Given the description of an element on the screen output the (x, y) to click on. 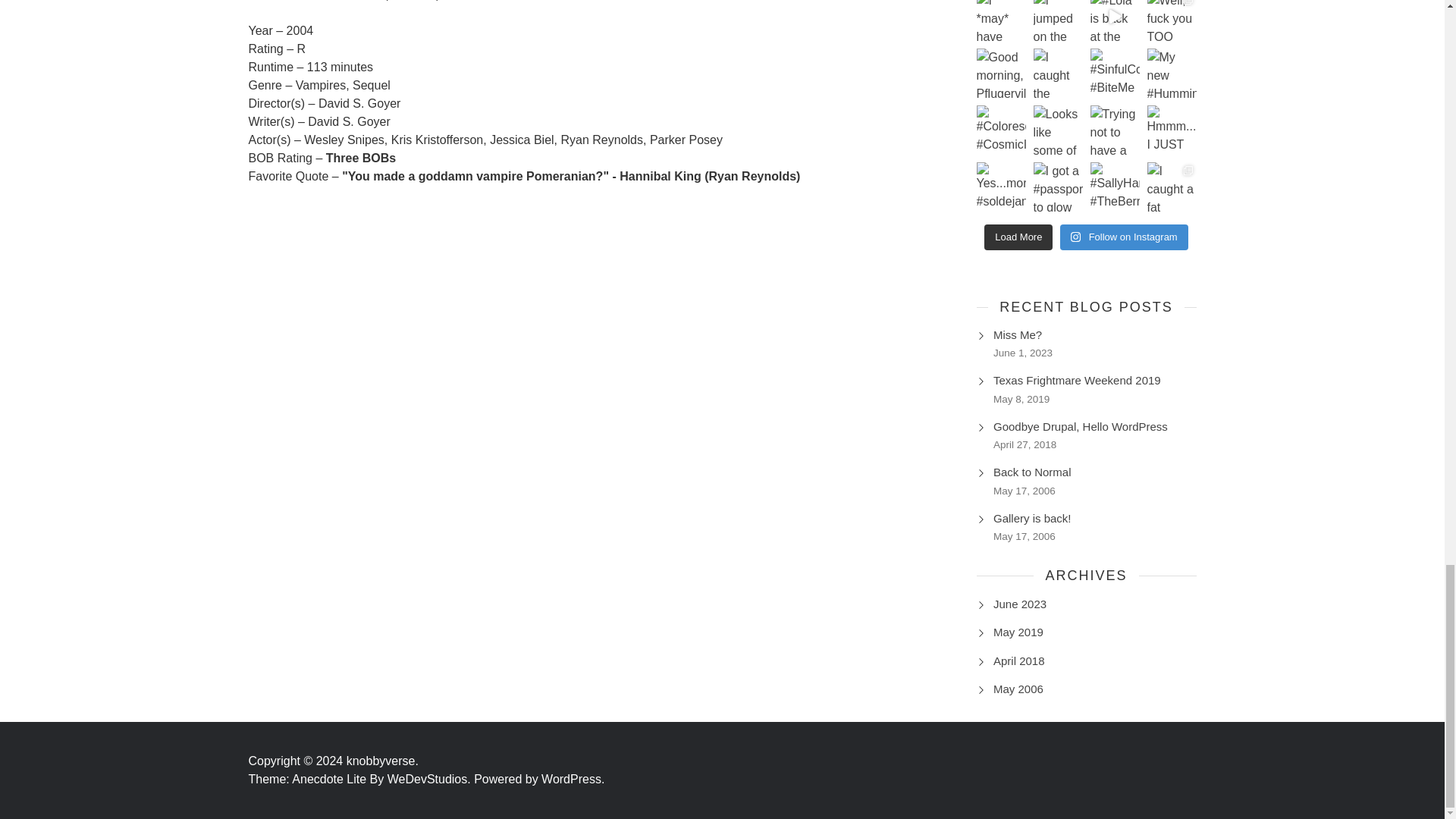
knobbyverse (382, 760)
Comic Books (323, 0)
Vampires (436, 0)
WeDevStudios (430, 779)
WordPress (572, 779)
